Given the description of an element on the screen output the (x, y) to click on. 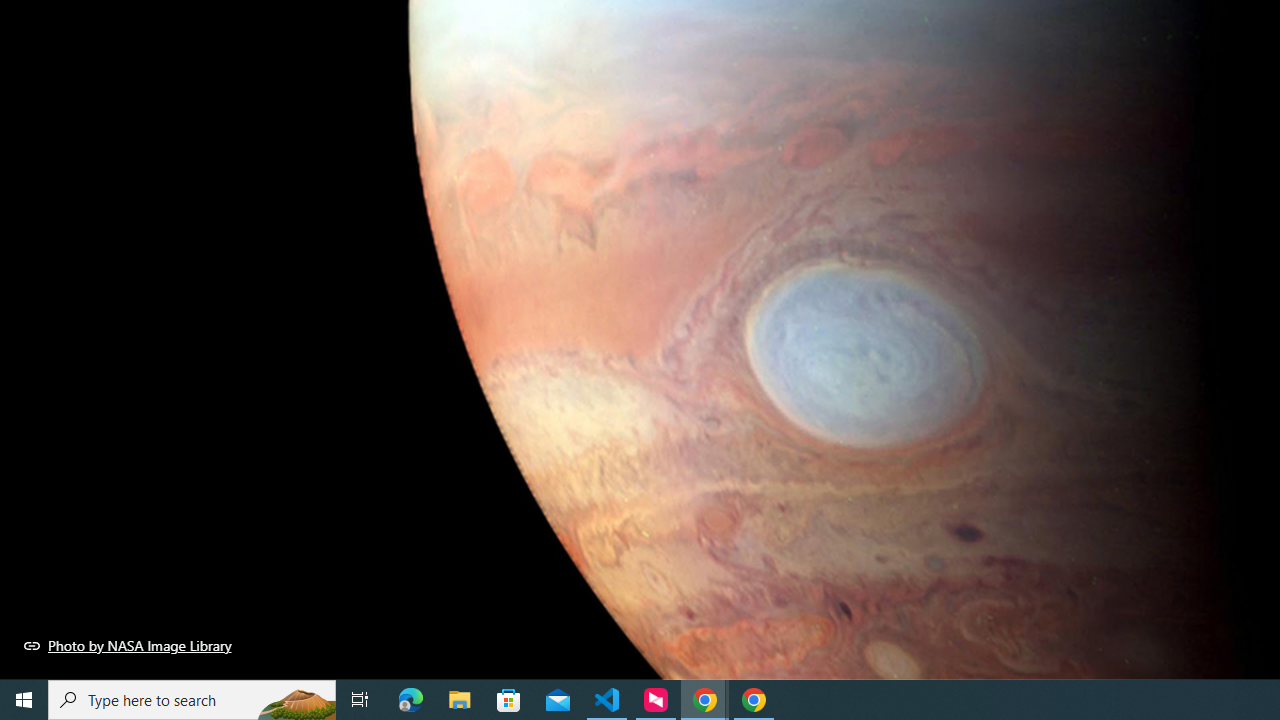
Photo by NASA Image Library (127, 645)
